Given the description of an element on the screen output the (x, y) to click on. 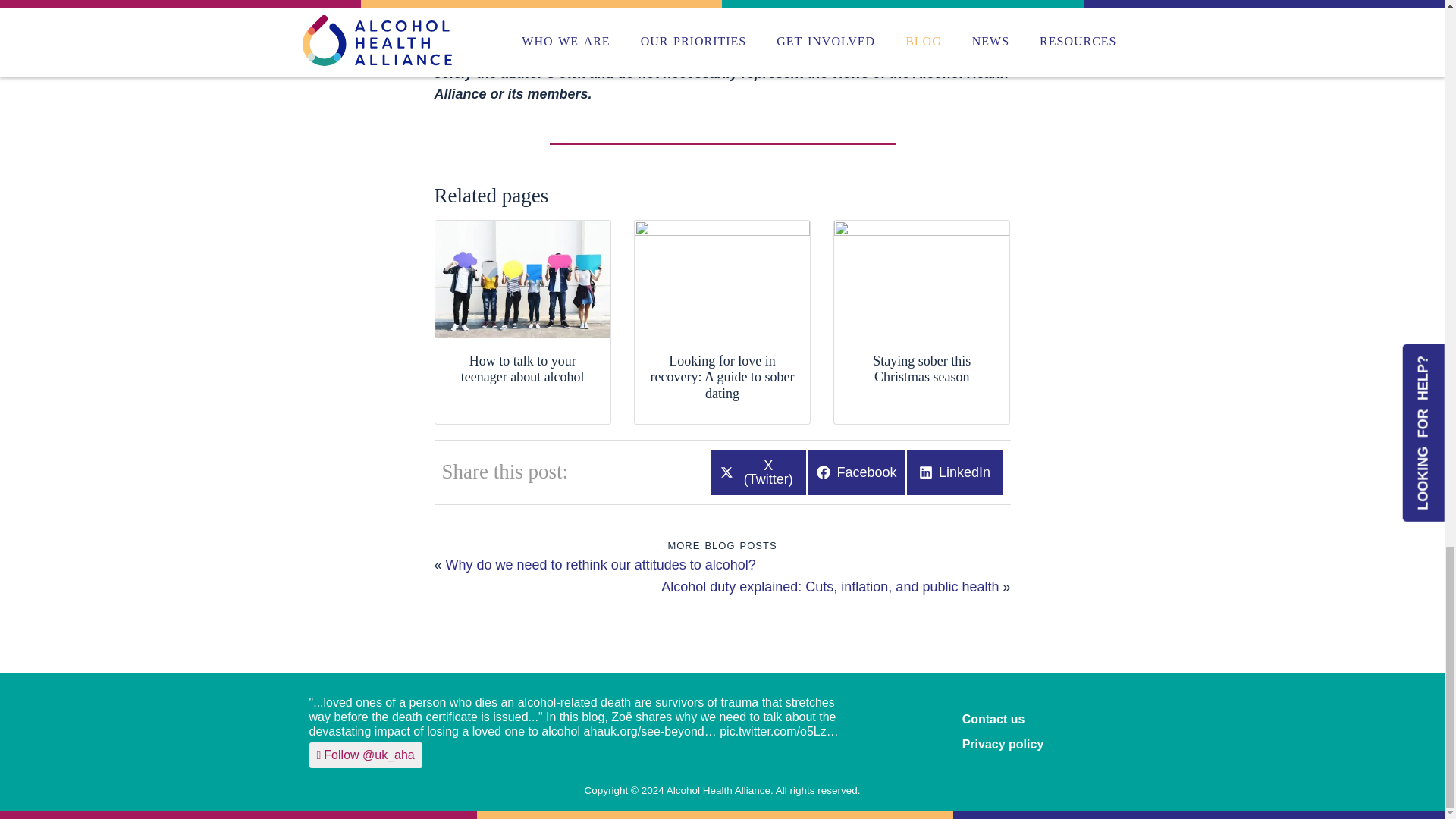
Alcohol duty explained: Cuts, inflation, and public health (855, 472)
Why do we need to rethink our attitudes to alcohol? (829, 586)
